Given the description of an element on the screen output the (x, y) to click on. 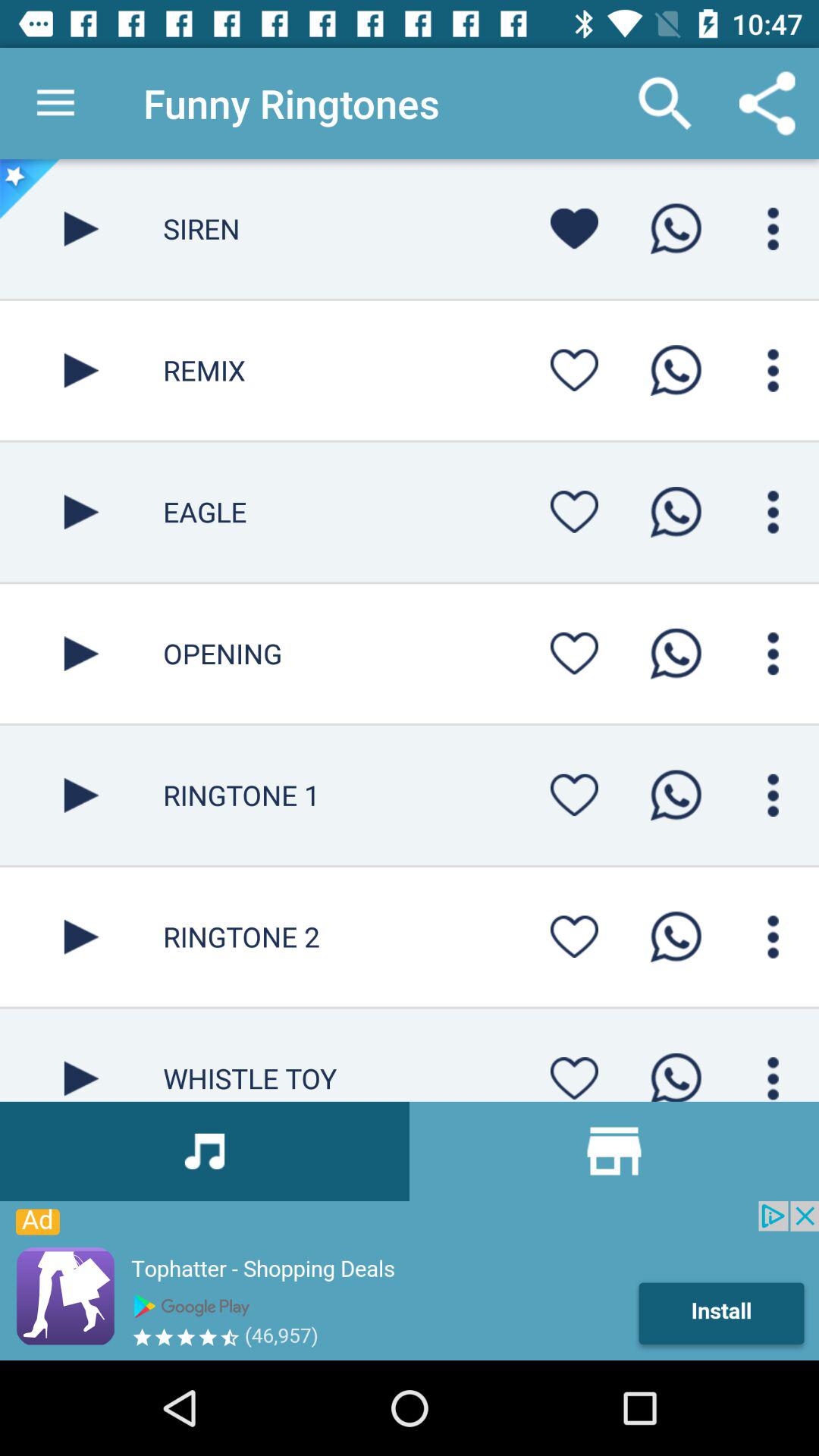
share on whatsapp (675, 1072)
